Given the description of an element on the screen output the (x, y) to click on. 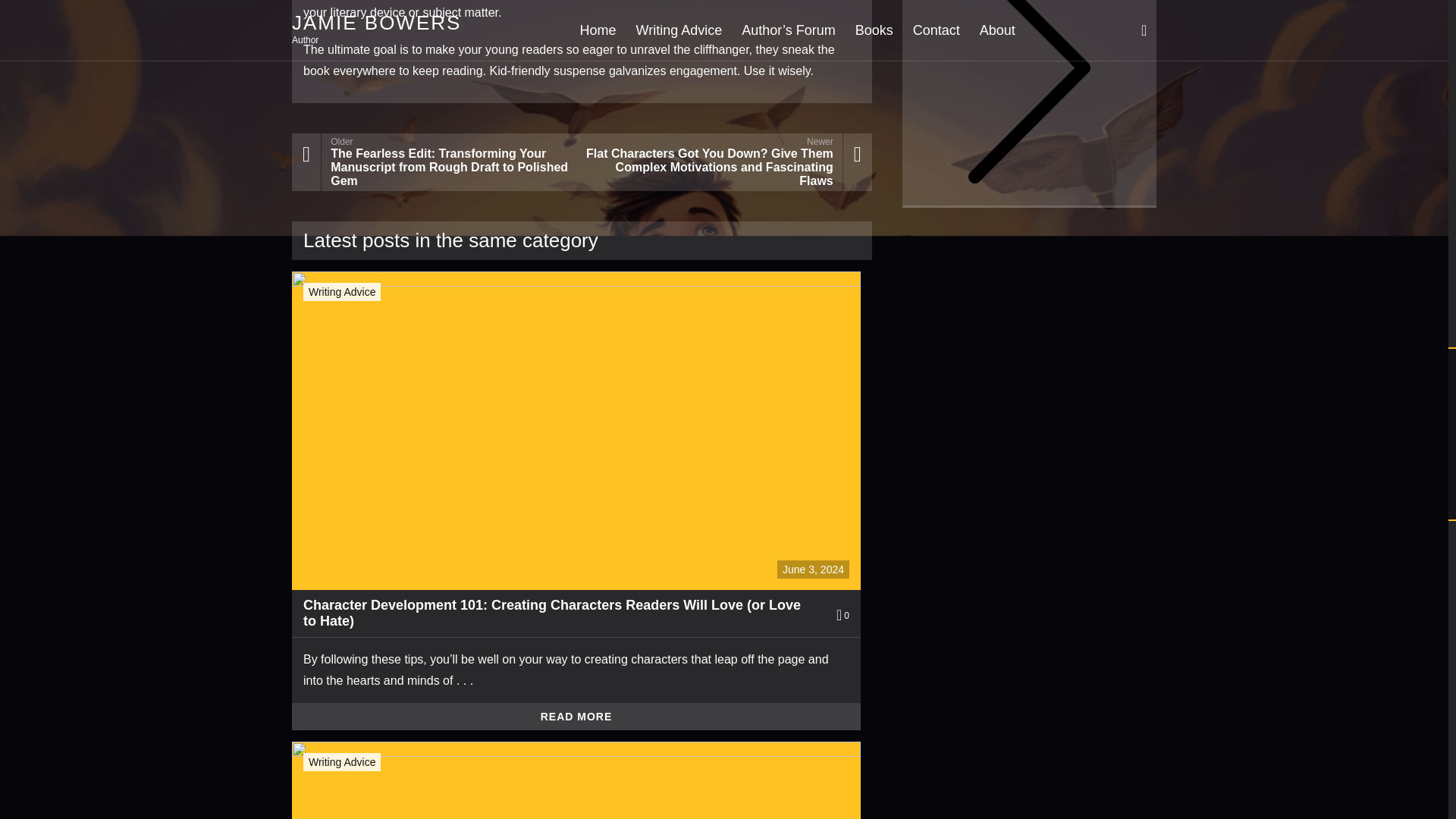
Writing Advice (341, 291)
